Given the description of an element on the screen output the (x, y) to click on. 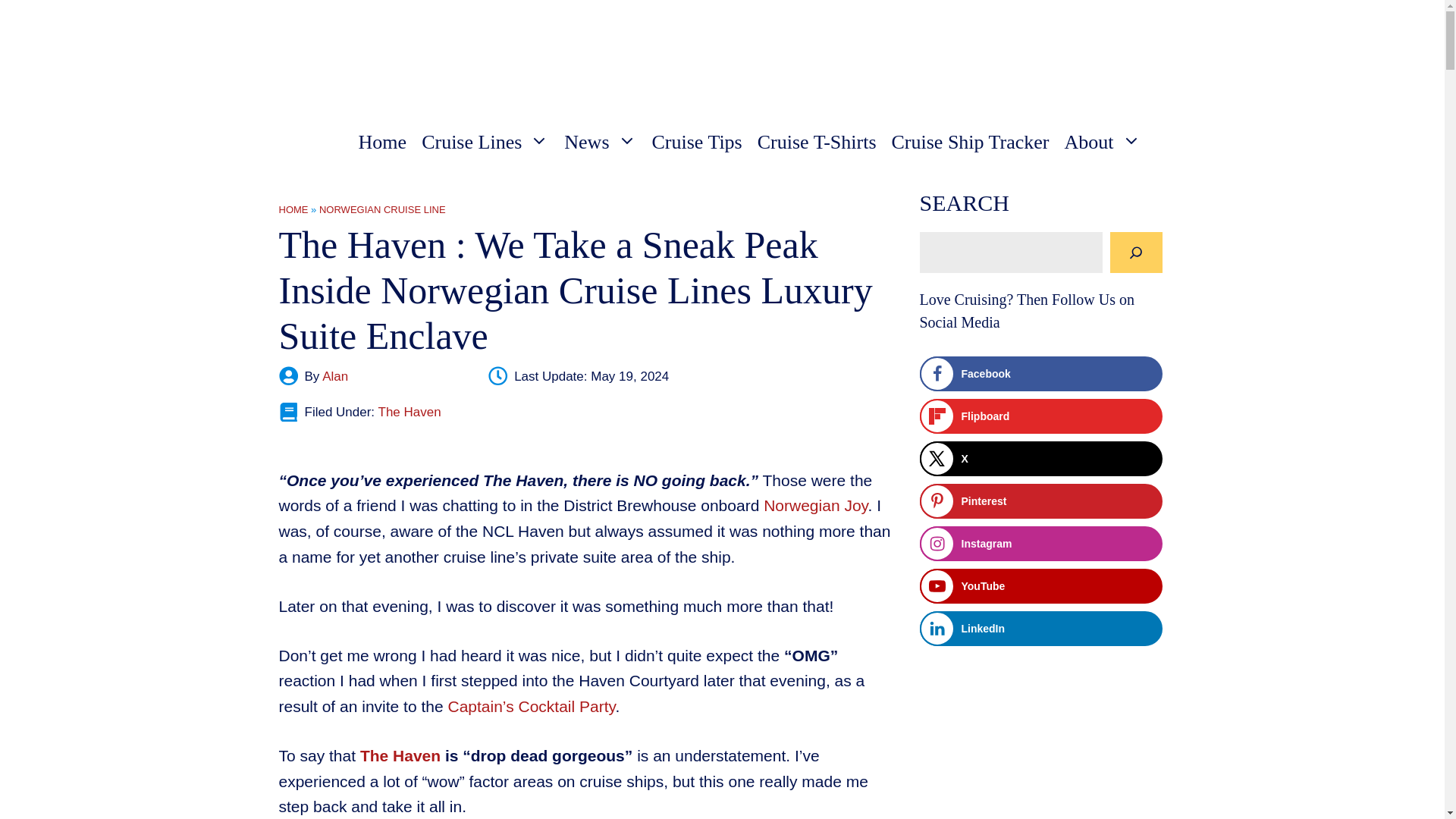
About (1102, 142)
Cruise Ship Tracker (970, 142)
Follow on Flipboard (1039, 416)
Follow on Facebook (1039, 373)
Follow on X (1039, 458)
Follow on YouTube (1039, 585)
HOME (293, 209)
Cruise Nonstop (336, 47)
News (599, 142)
Follow on Instagram (1039, 543)
Cruise Lines (484, 142)
Follow on Pinterest (1039, 501)
Cruise T-Shirts (816, 142)
Cruise Tips (697, 142)
Follow on LinkedIn (1039, 628)
